Given the description of an element on the screen output the (x, y) to click on. 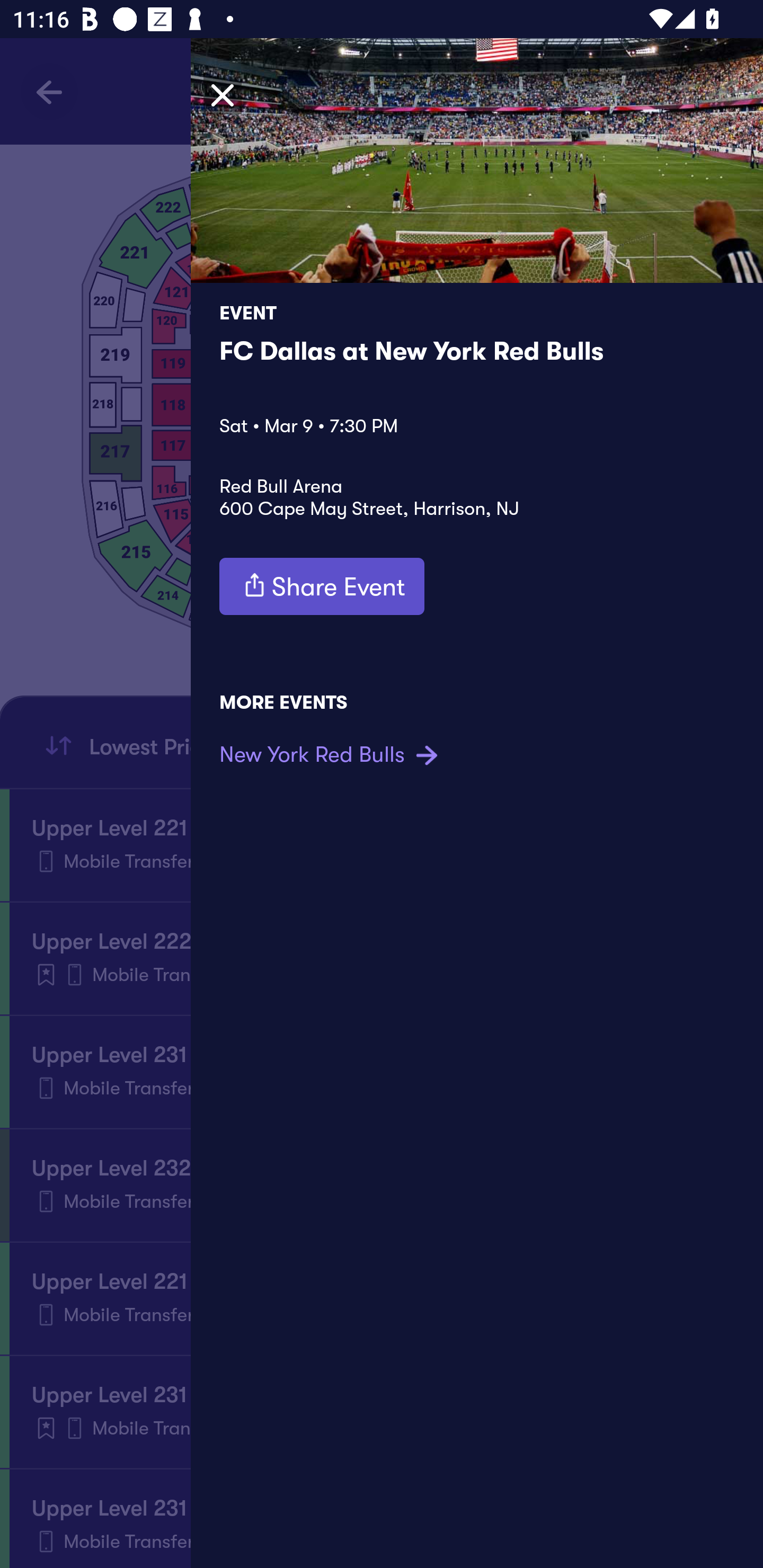
Share Event (321, 586)
New York Red Bulls (331, 753)
